Given the description of an element on the screen output the (x, y) to click on. 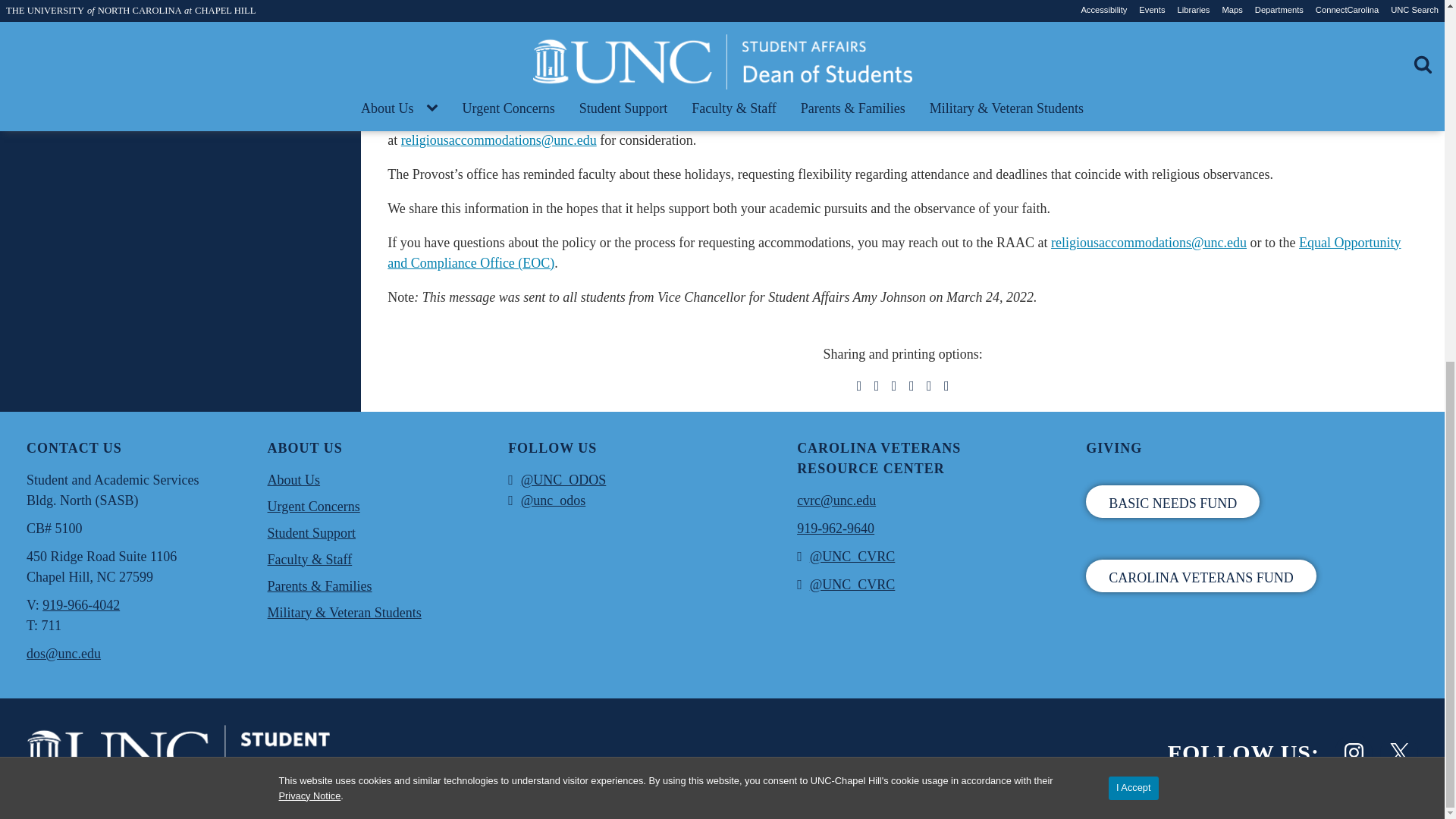
I Accept (1133, 146)
academic calendar (578, 64)
Privacy Notice (309, 153)
religious accommodations (880, 109)
Religious Accommodation Request Form (855, 119)
NEWS (472, 17)
